Given the description of an element on the screen output the (x, y) to click on. 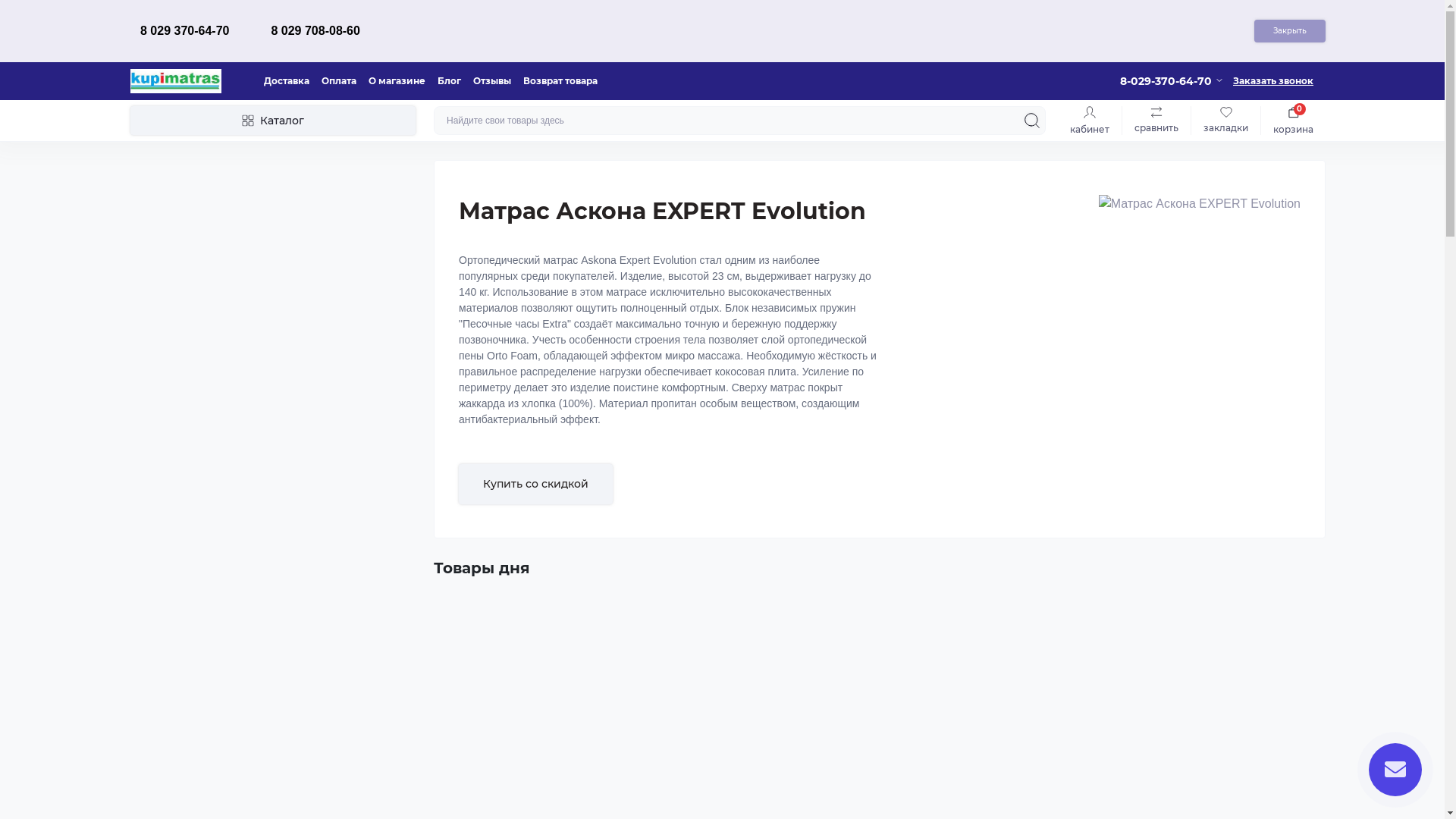
8 029 708-08-60 Element type: text (314, 31)
8 029 370-64-70 Element type: text (184, 31)
